Given the description of an element on the screen output the (x, y) to click on. 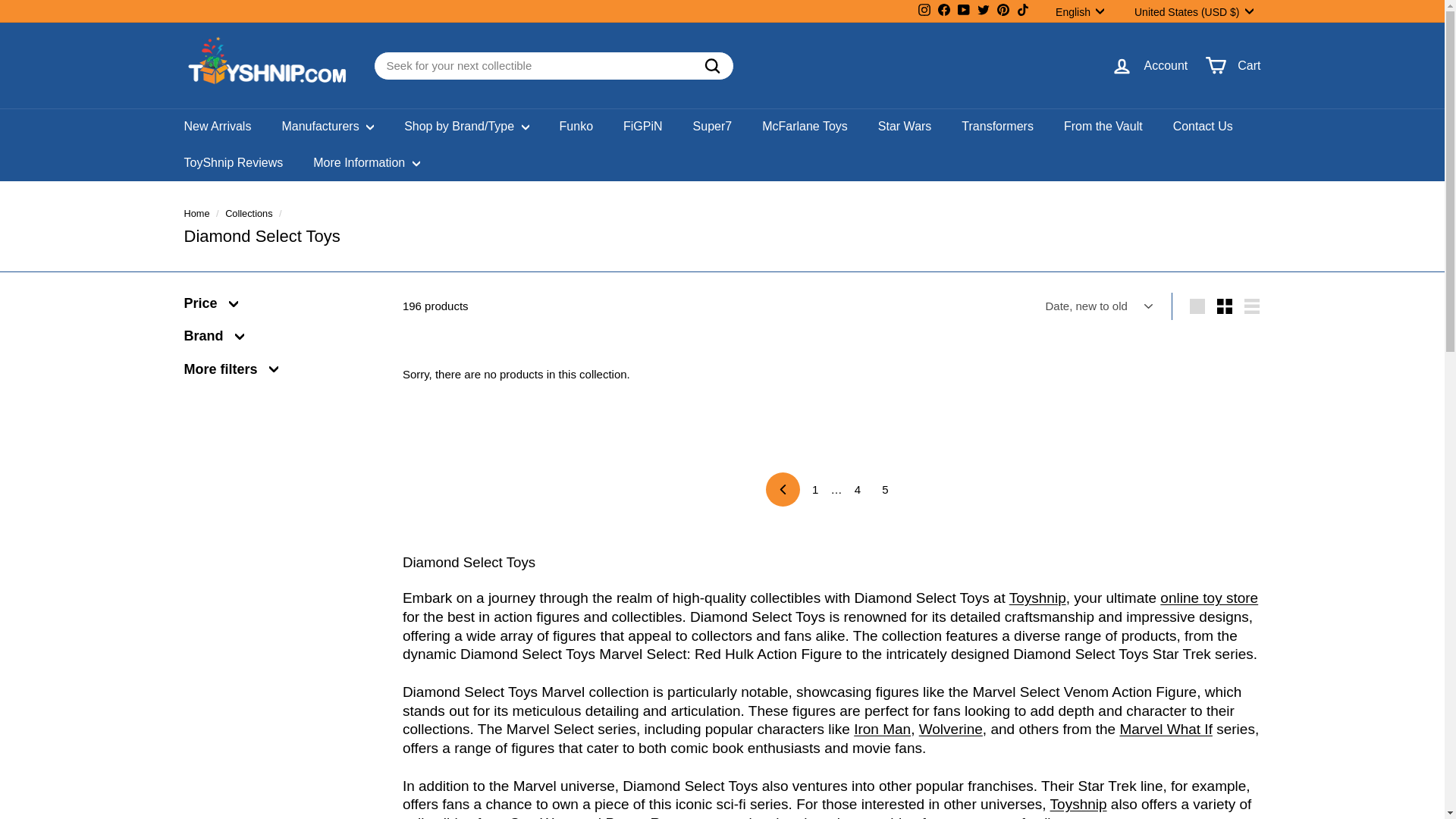
Previous (924, 11)
ToyShnip on Facebook (782, 489)
ToyShnip on YouTube (943, 11)
ToyShnip on TikTok (963, 11)
YouTube (1022, 11)
Back to the frontpage (963, 11)
List (196, 213)
English (1252, 306)
Small (1083, 11)
ToyShnip on Instagram (1225, 306)
ToyShnip on Pinterest (924, 11)
Pinterest (1002, 11)
Large (1002, 11)
twitter (1197, 306)
